Given the description of an element on the screen output the (x, y) to click on. 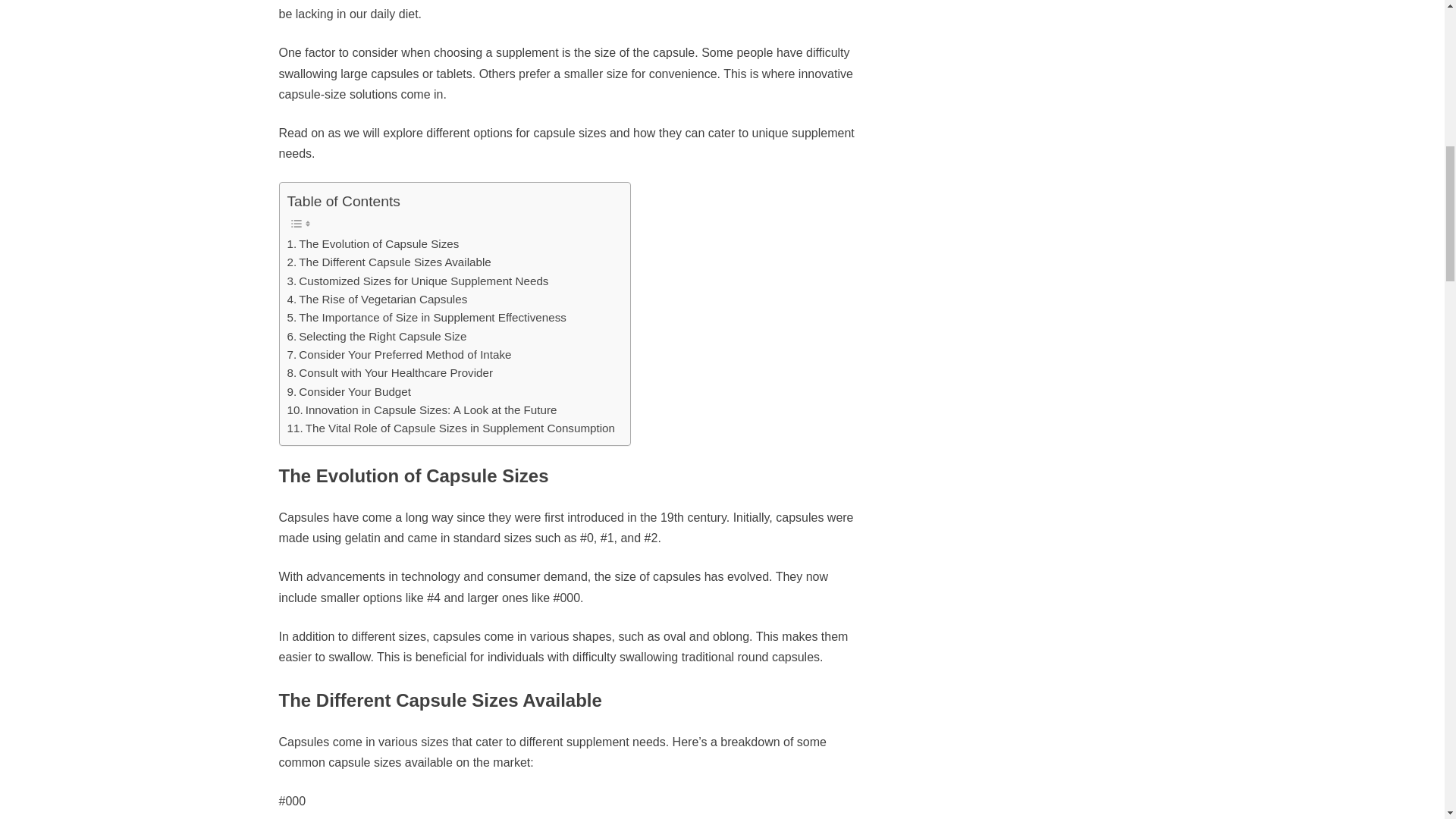
Consult with Your Healthcare Provider (389, 372)
Consult with Your Healthcare Provider (389, 372)
The Importance of Size in Supplement Effectiveness (426, 317)
The Vital Role of Capsule Sizes in Supplement Consumption (450, 428)
Consider Your Budget (348, 392)
Innovation in Capsule Sizes: A Look at the Future (421, 410)
The Rise of Vegetarian Capsules (376, 299)
Customized Sizes for Unique Supplement Needs (417, 280)
The Evolution of Capsule Sizes (372, 244)
Innovation in Capsule Sizes: A Look at the Future (421, 410)
